Given the description of an element on the screen output the (x, y) to click on. 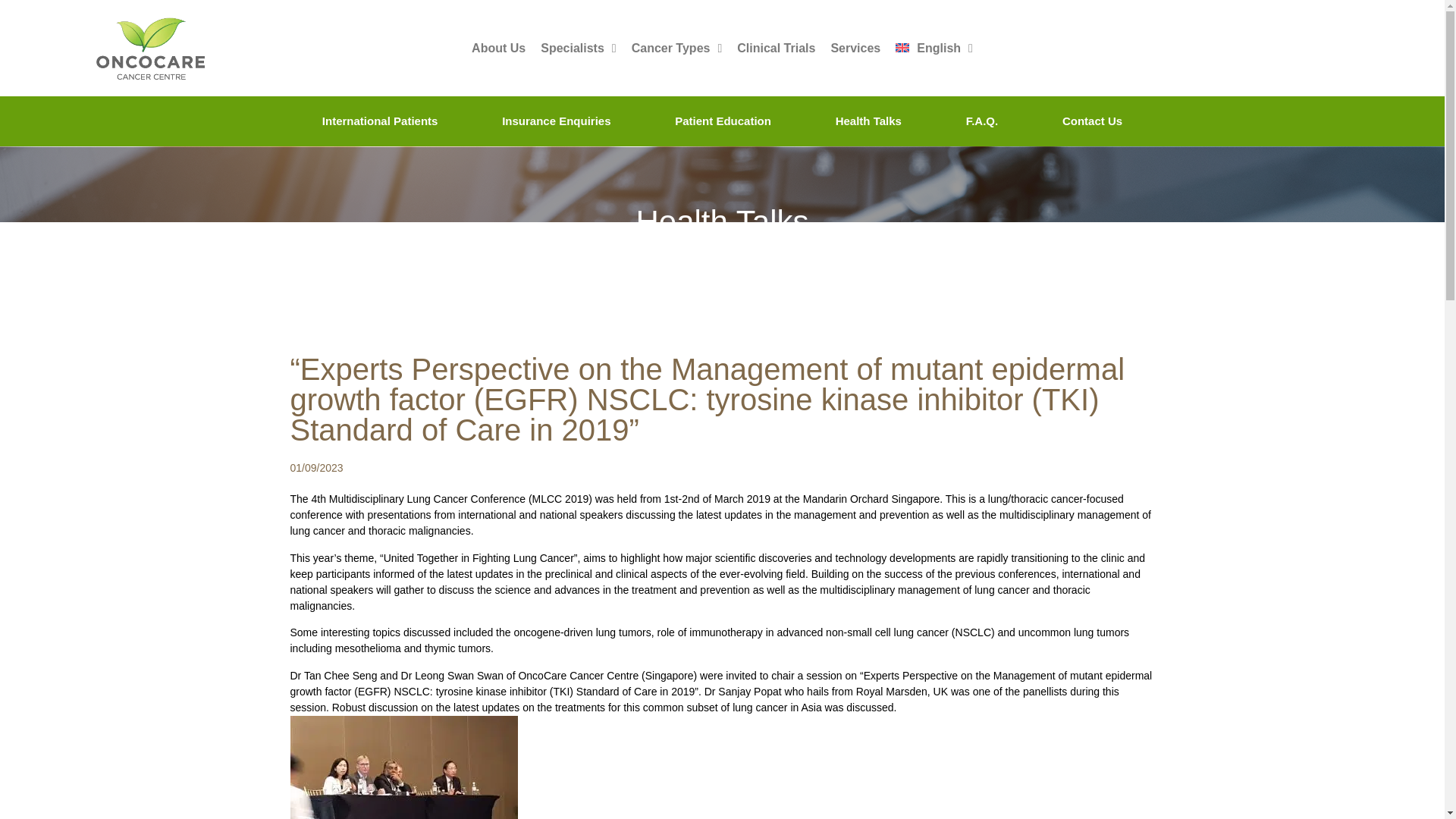
Cancer Types (677, 48)
English (933, 48)
Specialists (577, 48)
About Us (498, 48)
